Given the description of an element on the screen output the (x, y) to click on. 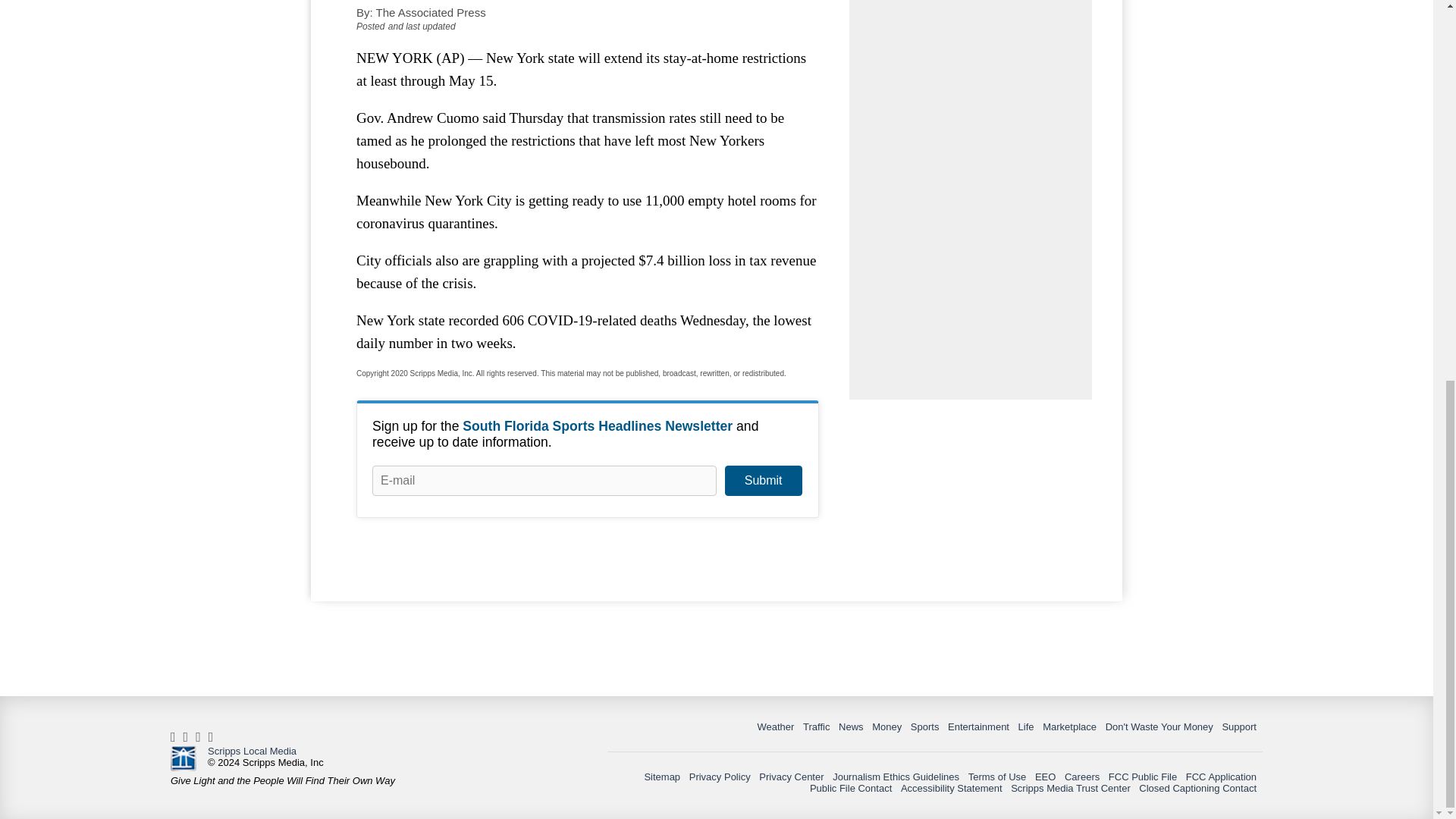
Submit (763, 481)
